Given the description of an element on the screen output the (x, y) to click on. 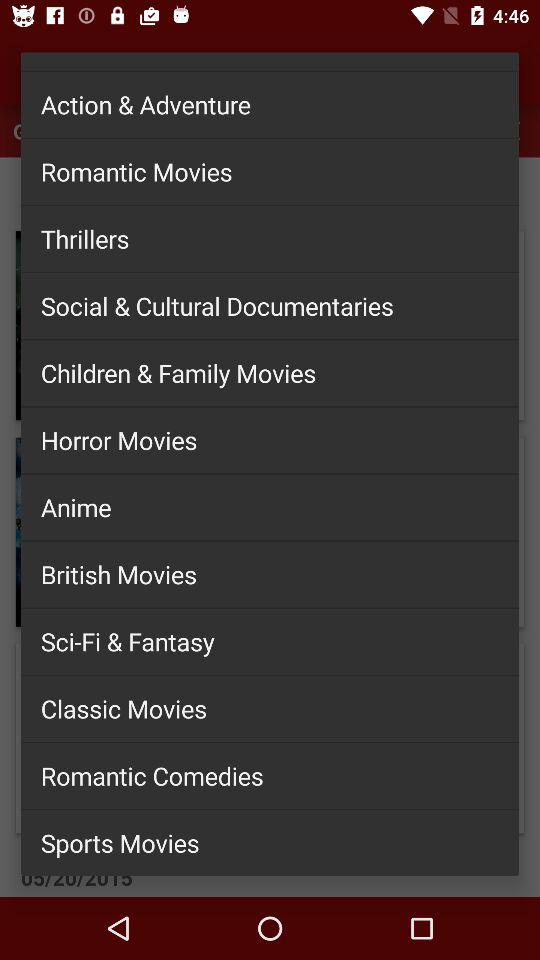
flip to the    sci-fi & fantasy icon (269, 641)
